Given the description of an element on the screen output the (x, y) to click on. 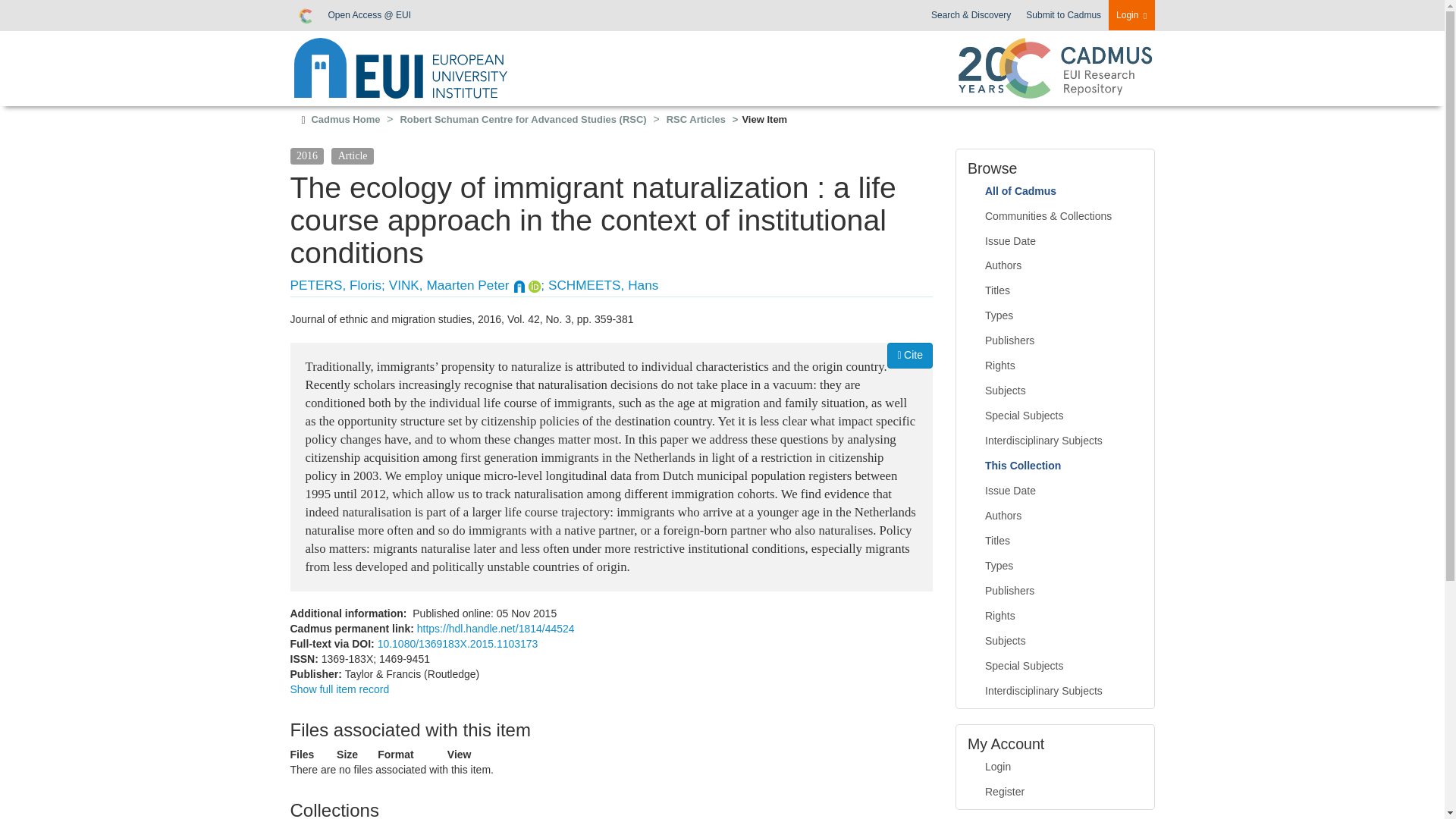
RSC Articles (695, 119)
Rights (1055, 365)
Cadmus Home (345, 119)
Authors (1055, 266)
Special Subjects (1055, 416)
Login  (1131, 15)
Article (352, 155)
Publishers (1055, 340)
Issue Date (1055, 241)
2016 (307, 155)
